Given the description of an element on the screen output the (x, y) to click on. 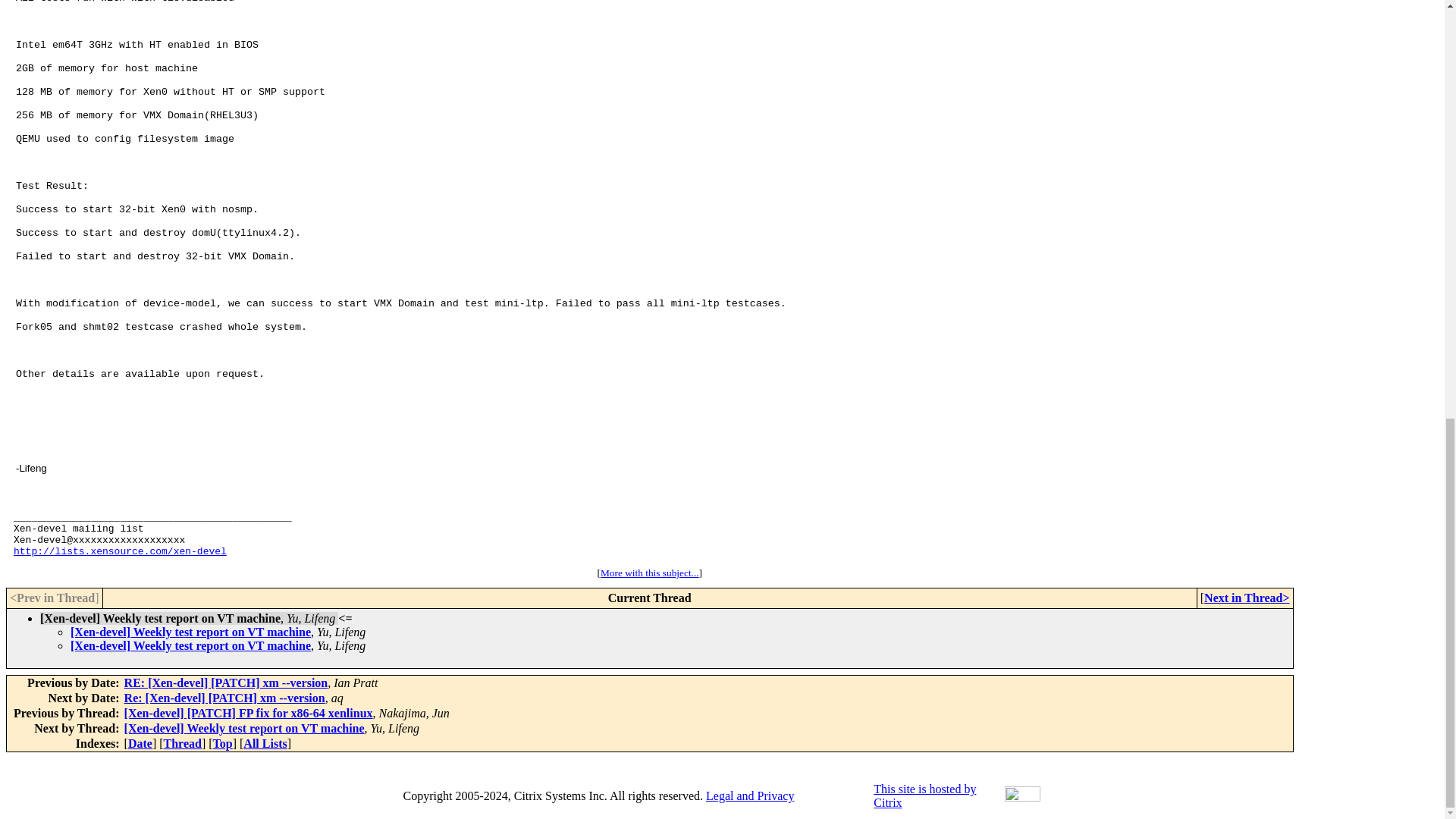
More with this subject... (648, 572)
